Given the description of an element on the screen output the (x, y) to click on. 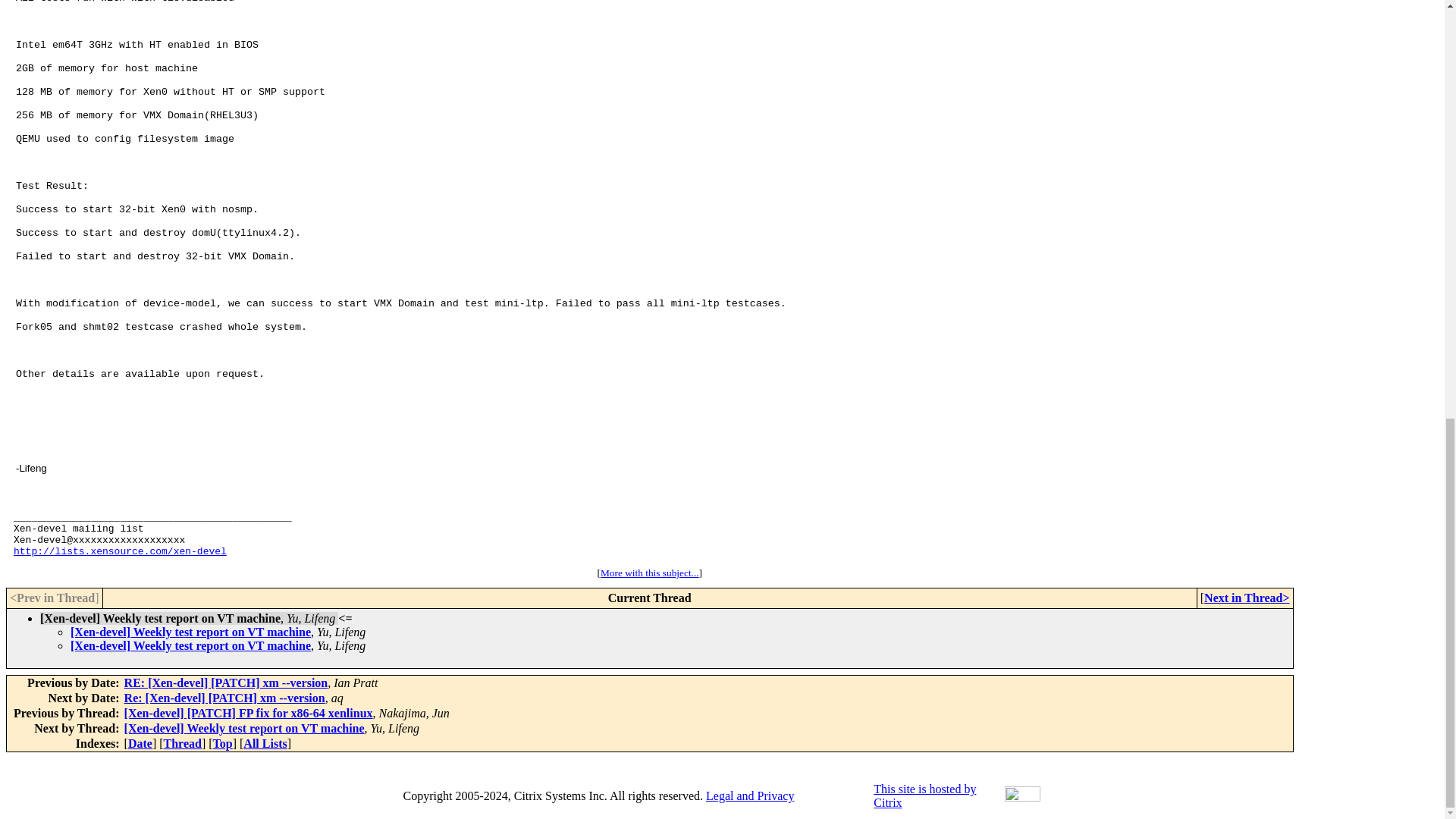
More with this subject... (648, 572)
